Given the description of an element on the screen output the (x, y) to click on. 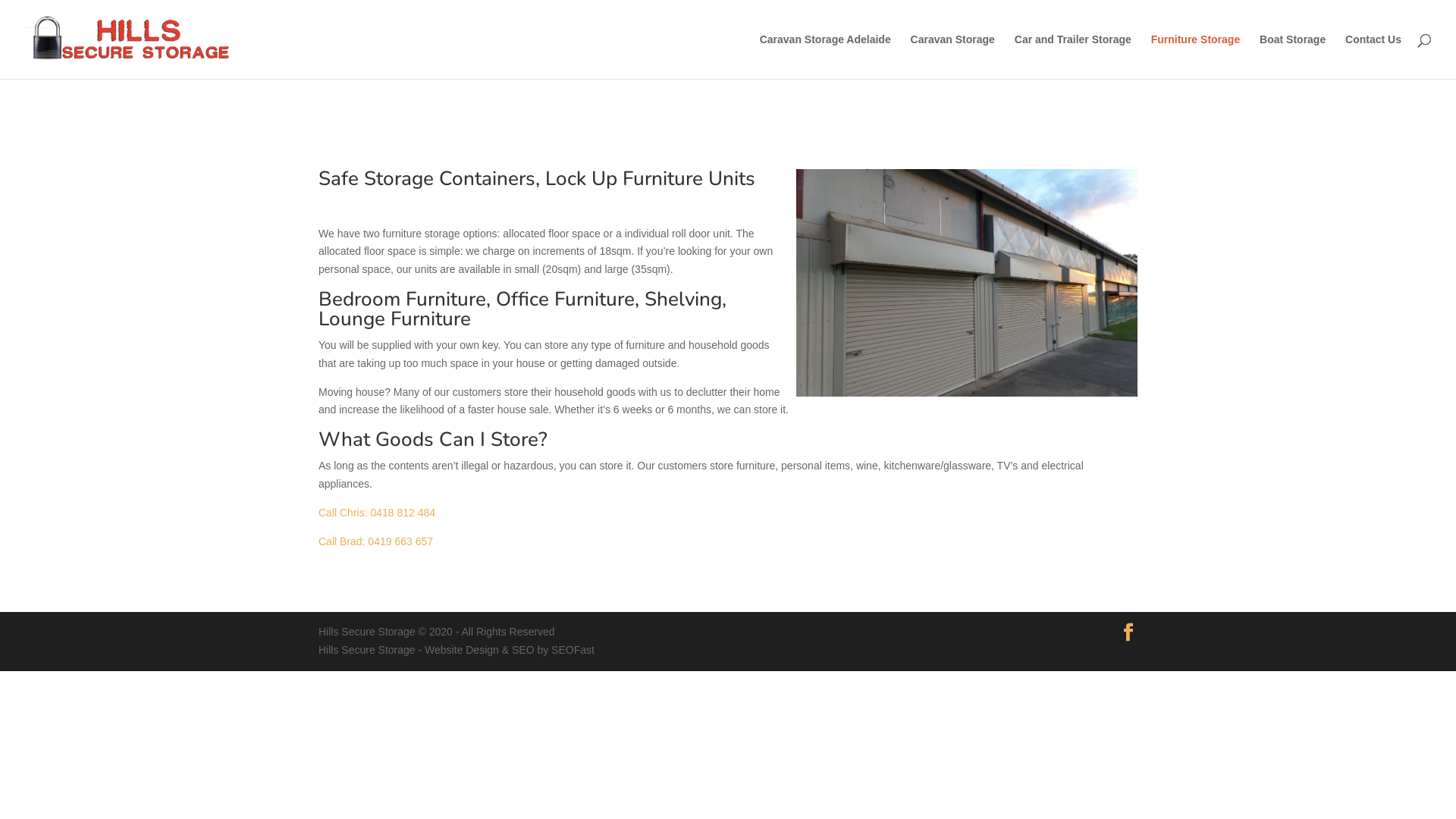
Contact Us Element type: text (1373, 56)
Car and Trailer Storage Element type: text (1072, 56)
Furniture Storage Element type: text (1195, 56)
Caravan Storage Element type: text (952, 56)
Caravan Storage Adelaide Element type: text (825, 56)
Call Brad: 0419 663 657 Element type: text (375, 541)
Call Chris: 0418 812 484 Element type: text (376, 512)
Boat Storage Element type: text (1292, 56)
